Given the description of an element on the screen output the (x, y) to click on. 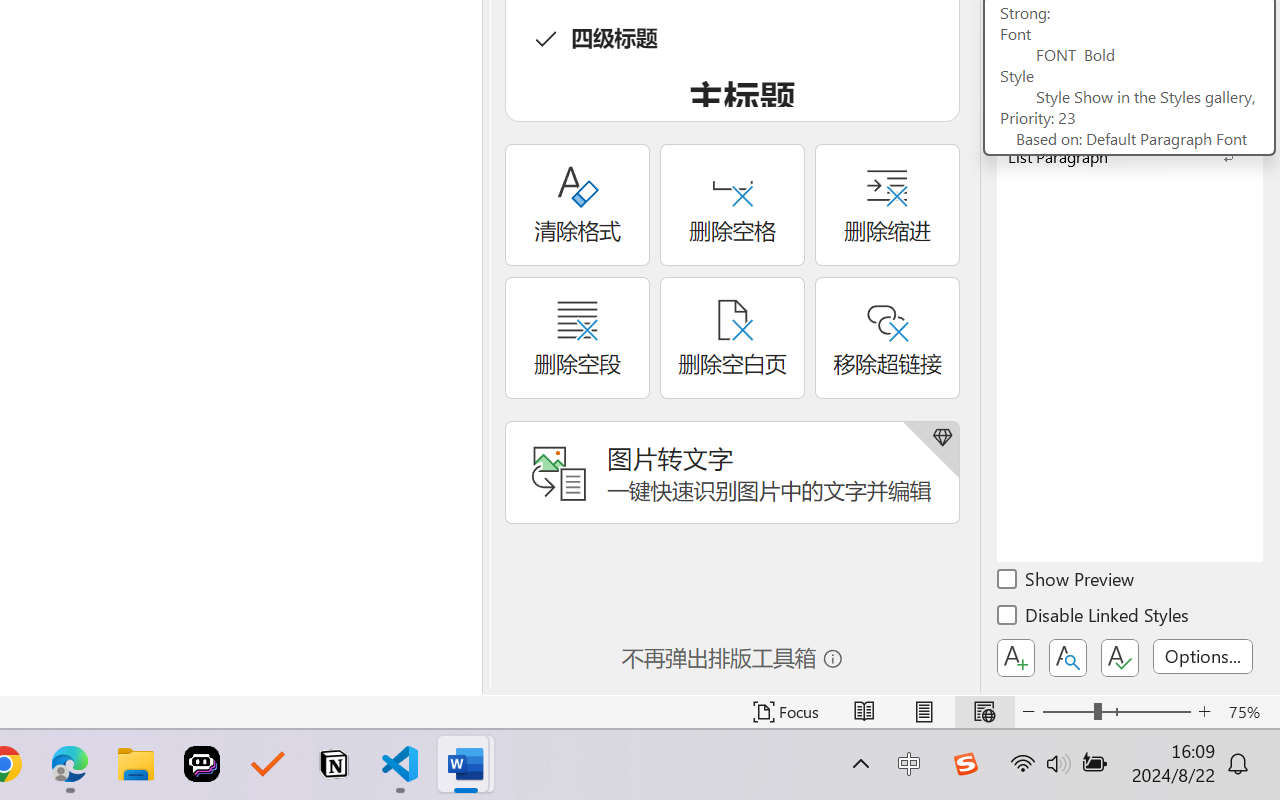
Zoom Out (1067, 712)
Read Mode (864, 712)
Book Title (1130, 124)
Focus  (786, 712)
Zoom In (1204, 712)
Print Layout (924, 712)
Web Layout (984, 712)
Disable Linked Styles (1094, 618)
